Given the description of an element on the screen output the (x, y) to click on. 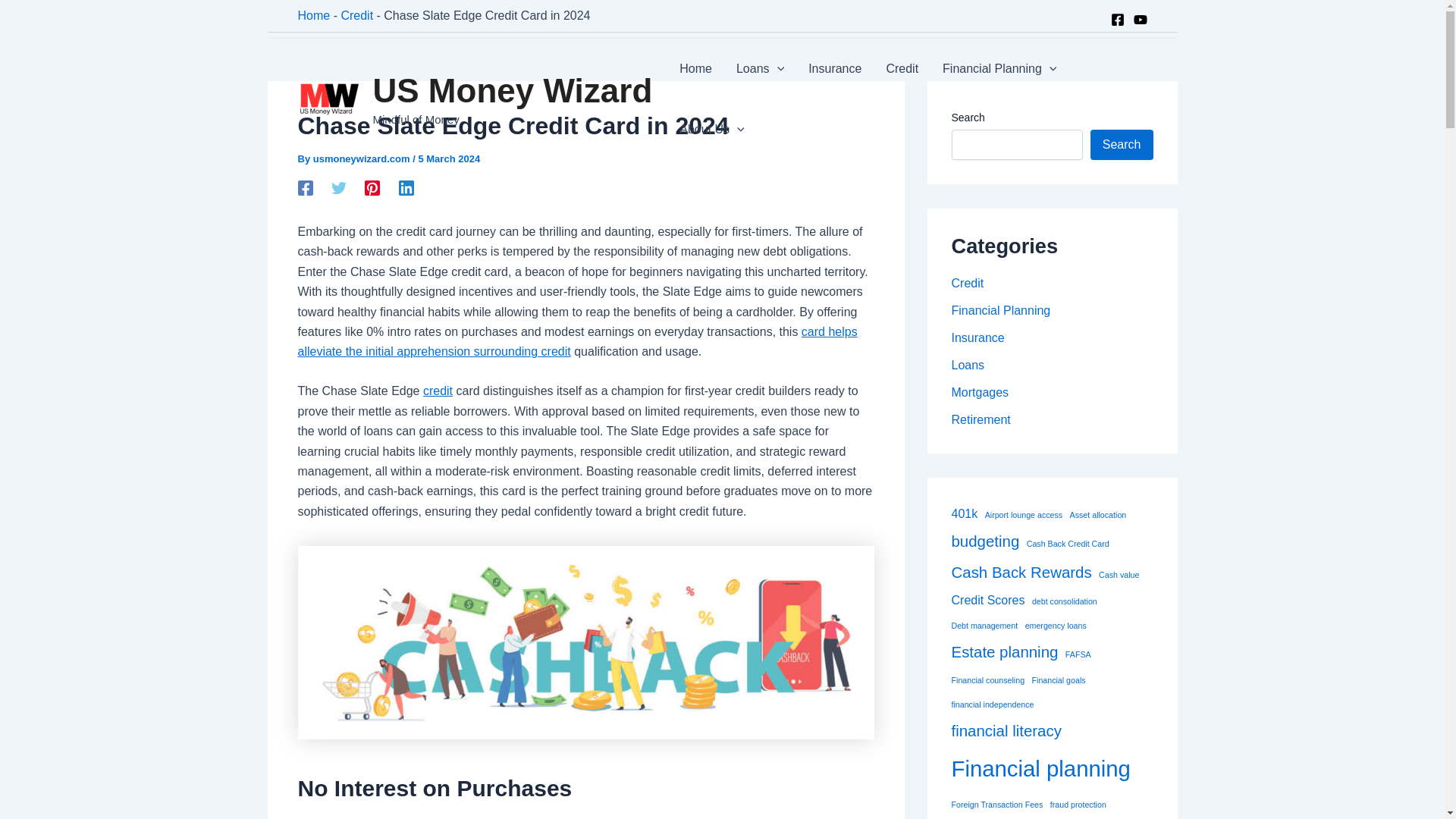
View all posts by usmoneywizard.com (362, 158)
Financial Planning (999, 68)
Loans (759, 68)
Credit (901, 68)
US Money Wizard (512, 90)
Home (694, 68)
About Us (710, 129)
Insurance (834, 68)
